Given the description of an element on the screen output the (x, y) to click on. 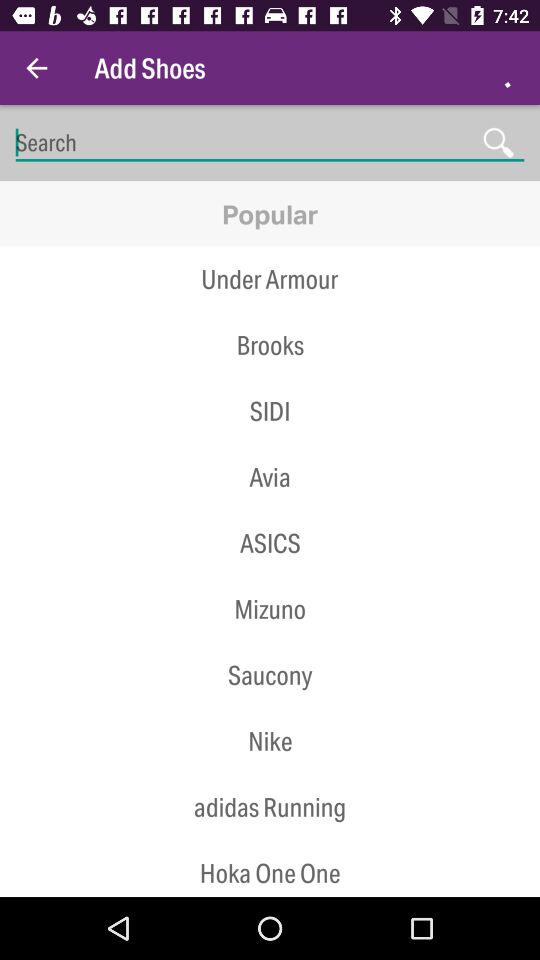
jump until sidi icon (270, 411)
